Given the description of an element on the screen output the (x, y) to click on. 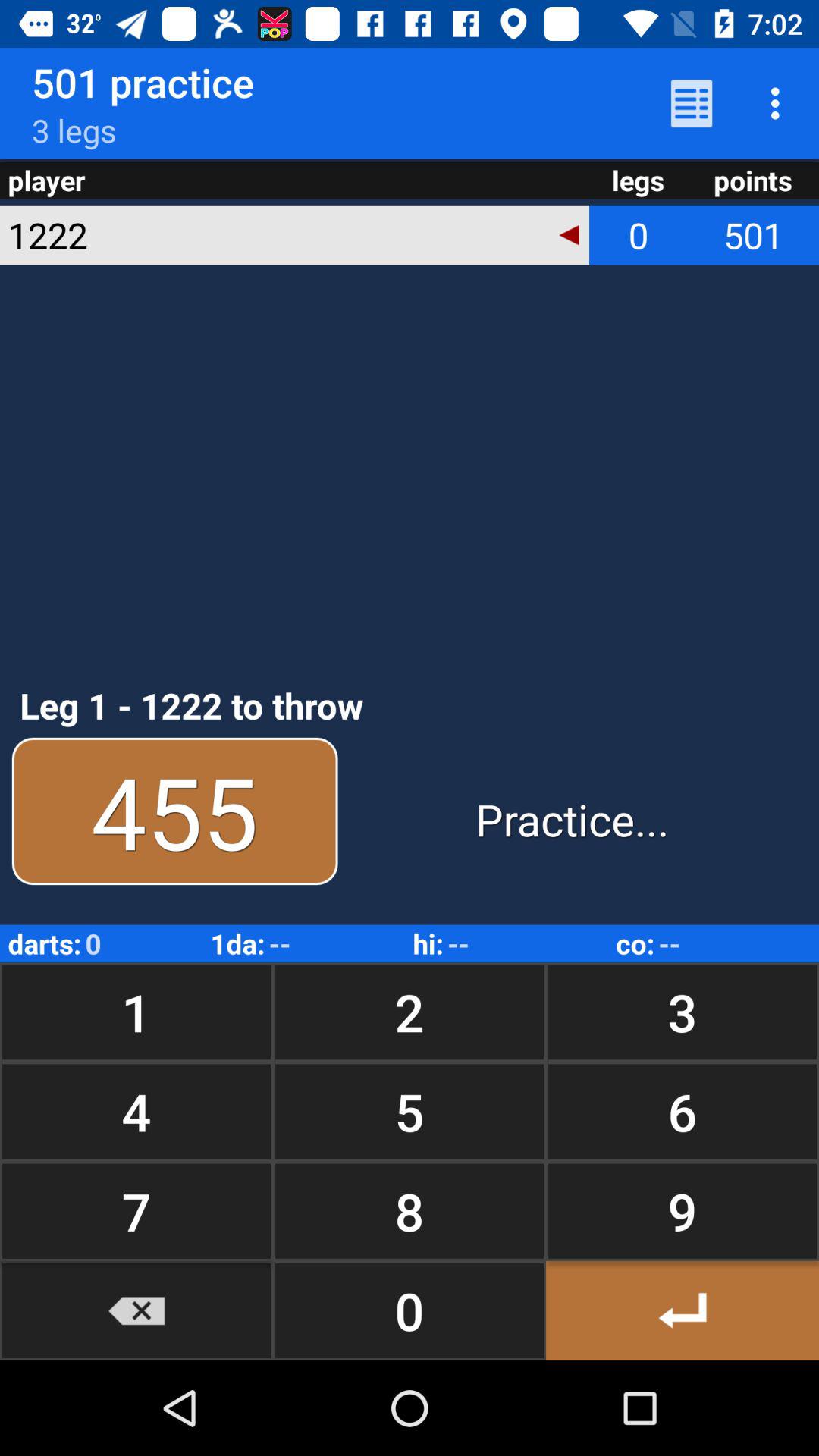
select the button next to 8 item (136, 1310)
